Given the description of an element on the screen output the (x, y) to click on. 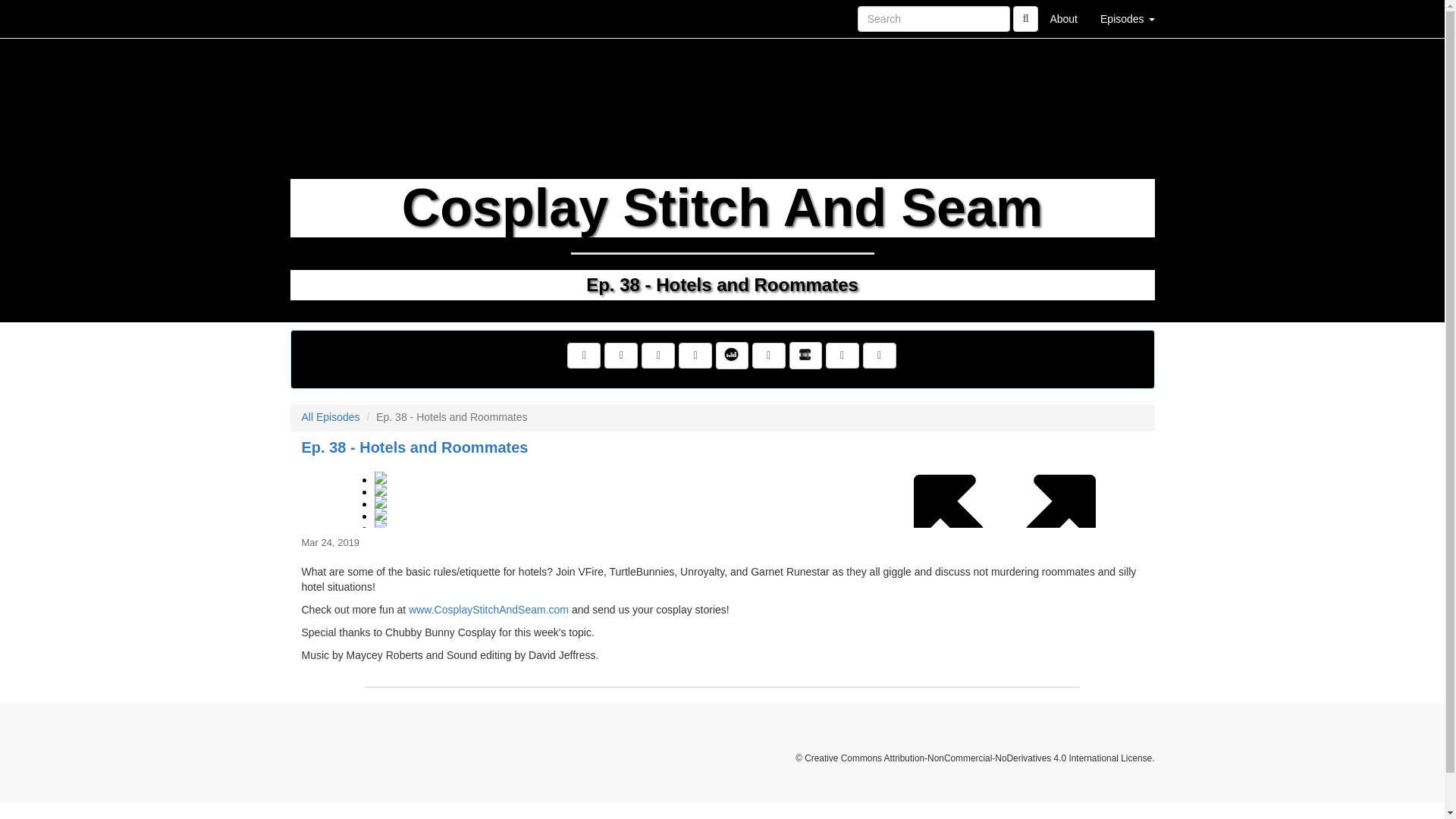
Home Page (320, 18)
Ep. 38 - Hotels and Roommates (721, 493)
About (1063, 18)
Episodes (1127, 18)
